Given the description of an element on the screen output the (x, y) to click on. 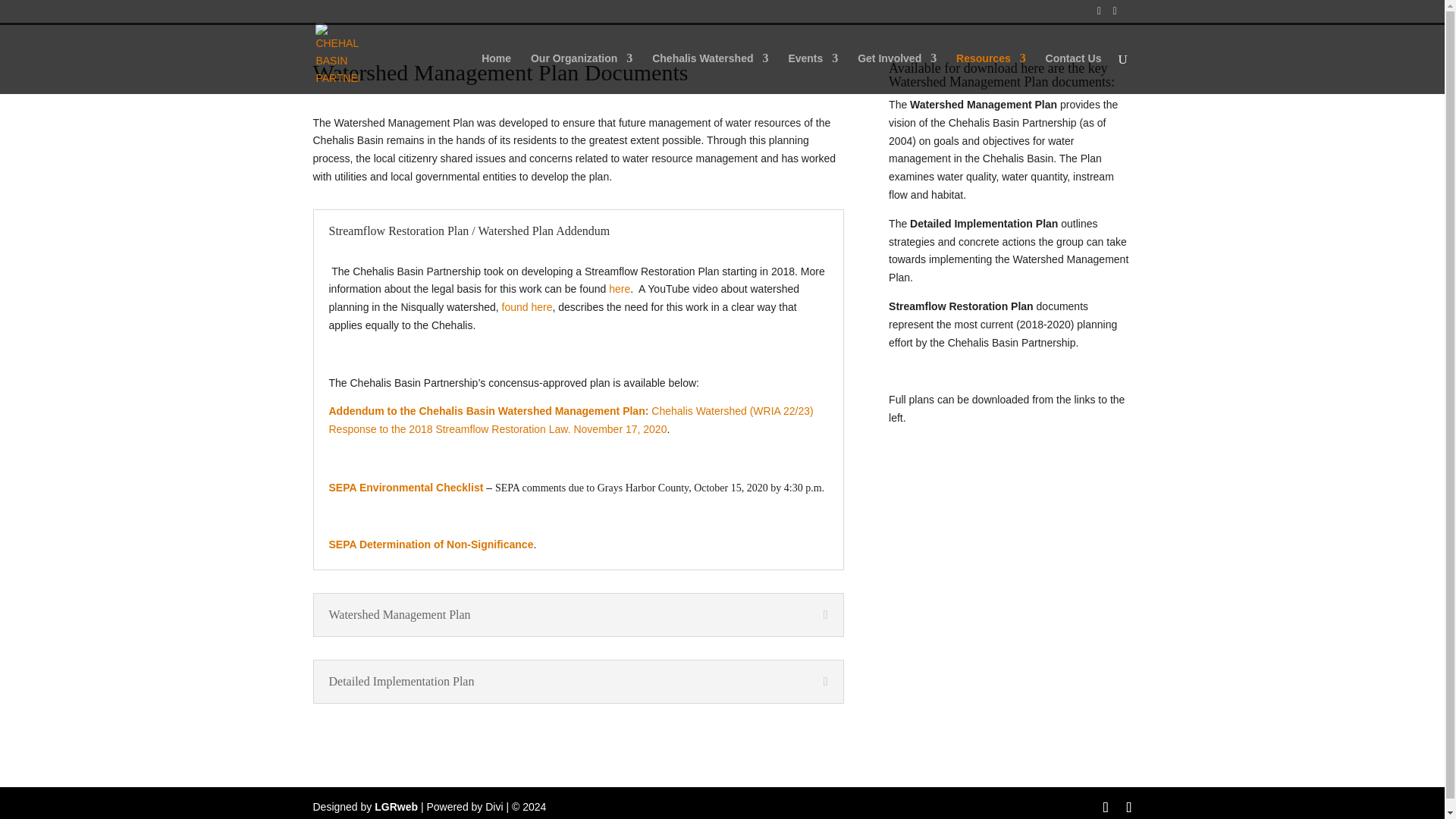
SEPA Determination of Non-Significance (431, 544)
found here (527, 306)
Events (812, 73)
Our Organization (581, 73)
here (619, 288)
Chehalis Watershed (710, 73)
SEPA Environmental Checklist (406, 487)
Contact Us (1073, 73)
Resources (991, 73)
Get Involved (896, 73)
